Given the description of an element on the screen output the (x, y) to click on. 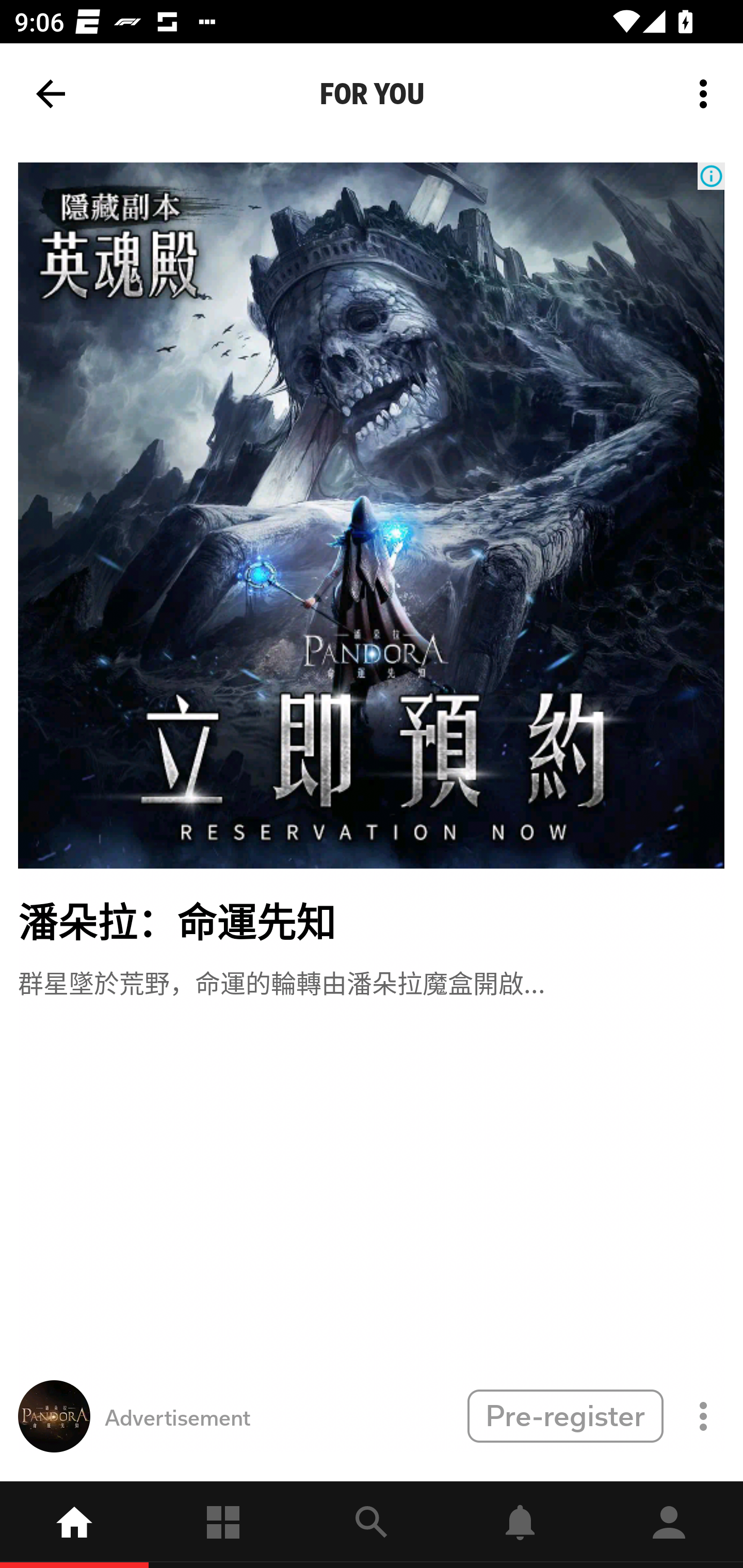
Back (50, 93)
Back (50, 93)
FOR YOU (371, 93)
More options (706, 93)
Ad Choices Icon (711, 176)
群星墜於荒野，命運的輪轉由潘朵拉魔盒開啟... (281, 981)
Pre-register (565, 1415)
home (74, 1524)
Following (222, 1524)
explore (371, 1524)
Notifications (519, 1524)
Profile (668, 1524)
